Given the description of an element on the screen output the (x, y) to click on. 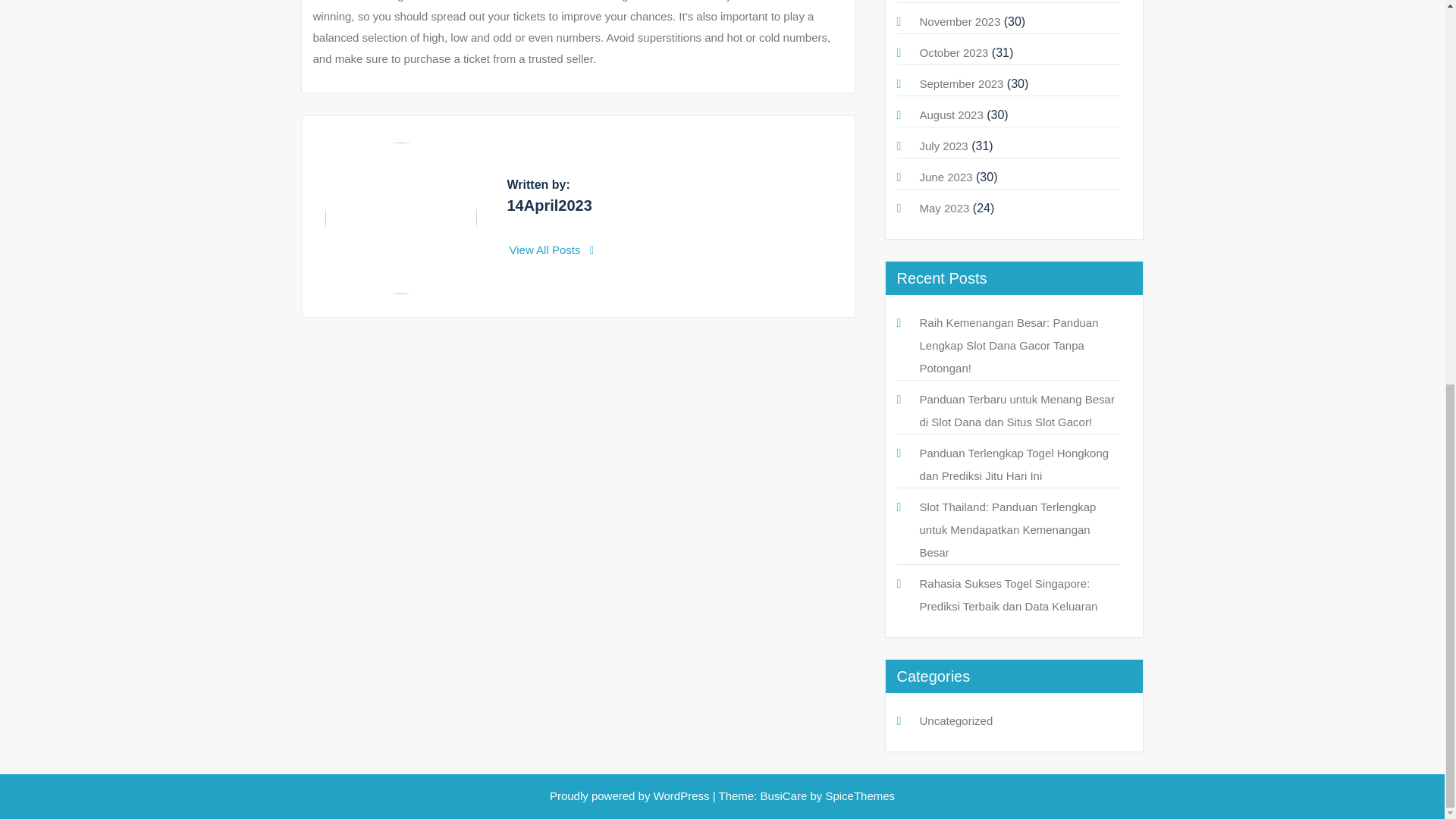
November 2023 (959, 21)
Panduan Terlengkap Togel Hongkong dan Prediksi Jitu Hari Ini (1013, 464)
View All Posts (551, 249)
October 2023 (953, 51)
June 2023 (945, 176)
May 2023 (943, 207)
Uncategorized (955, 720)
SpiceThemes (858, 795)
WordPress (681, 795)
July 2023 (943, 145)
BusiCare (785, 795)
